Given the description of an element on the screen output the (x, y) to click on. 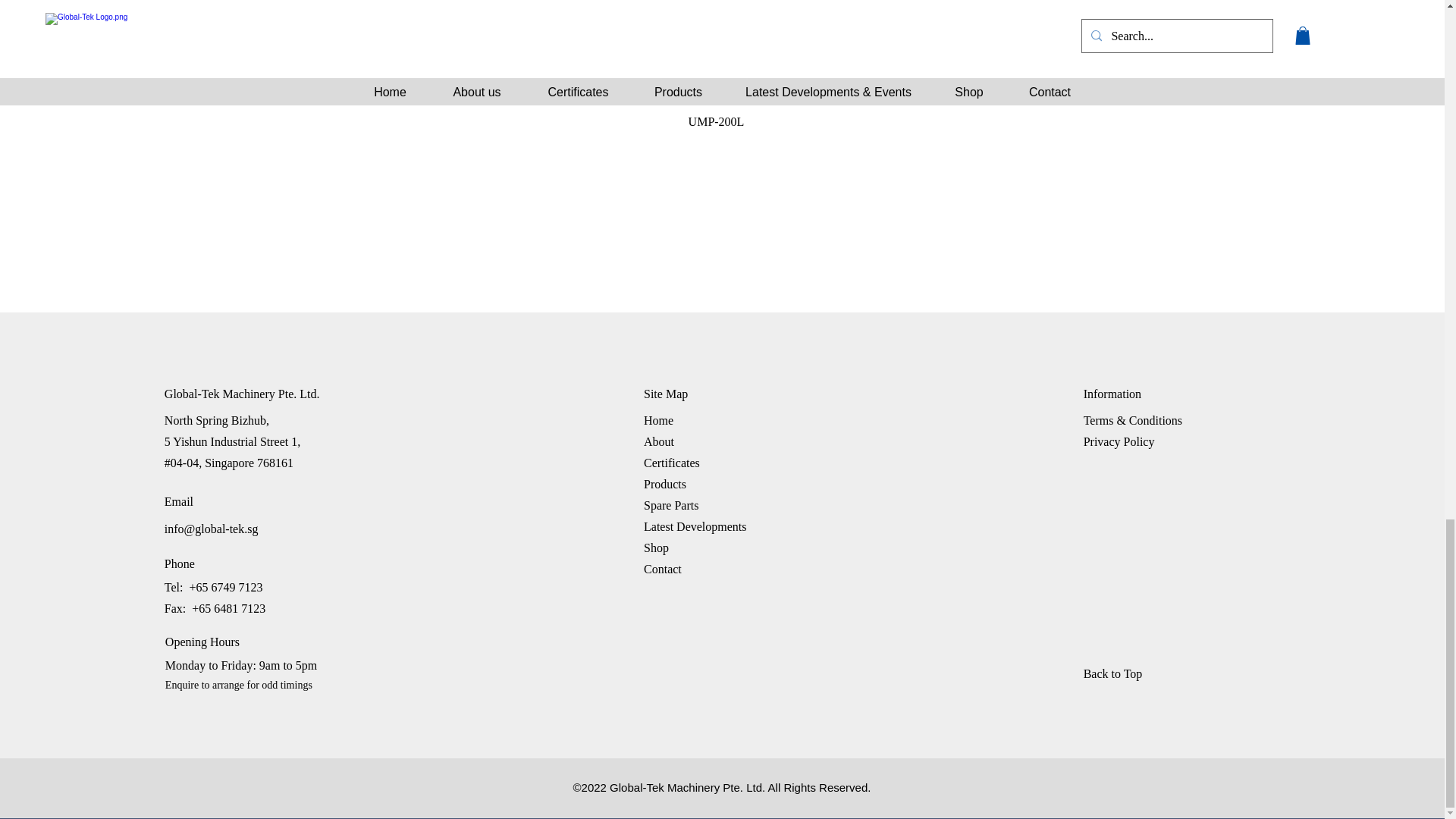
Privacy Policy (1118, 440)
Home (657, 420)
Contact (662, 568)
KNIGHT Banner.png (721, 33)
Shop (655, 547)
Certificates (671, 462)
Back to Top (1137, 674)
Latest Developments (694, 526)
Products (664, 483)
Spare Parts (670, 504)
